Given the description of an element on the screen output the (x, y) to click on. 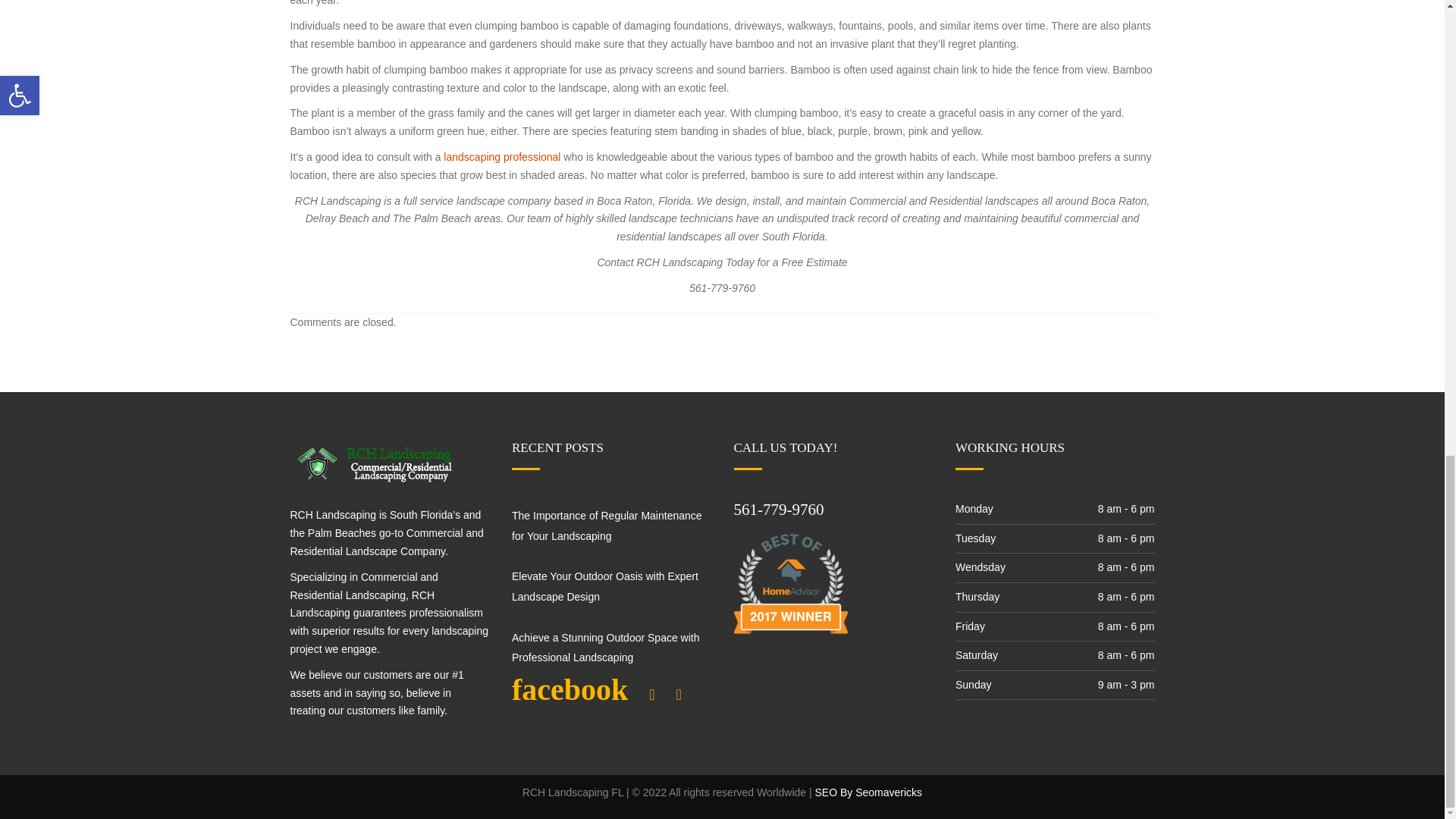
Instagram (652, 694)
The Importance of Regular Maintenance for Your Landscaping (606, 525)
landscaping professional (500, 156)
SEO By Seomavericks (869, 792)
561-779-9760 (778, 509)
Facebook (568, 694)
Facebook (568, 694)
Elevate Your Outdoor Oasis with Expert Landscape Design (605, 586)
Instagram (652, 694)
